Given the description of an element on the screen output the (x, y) to click on. 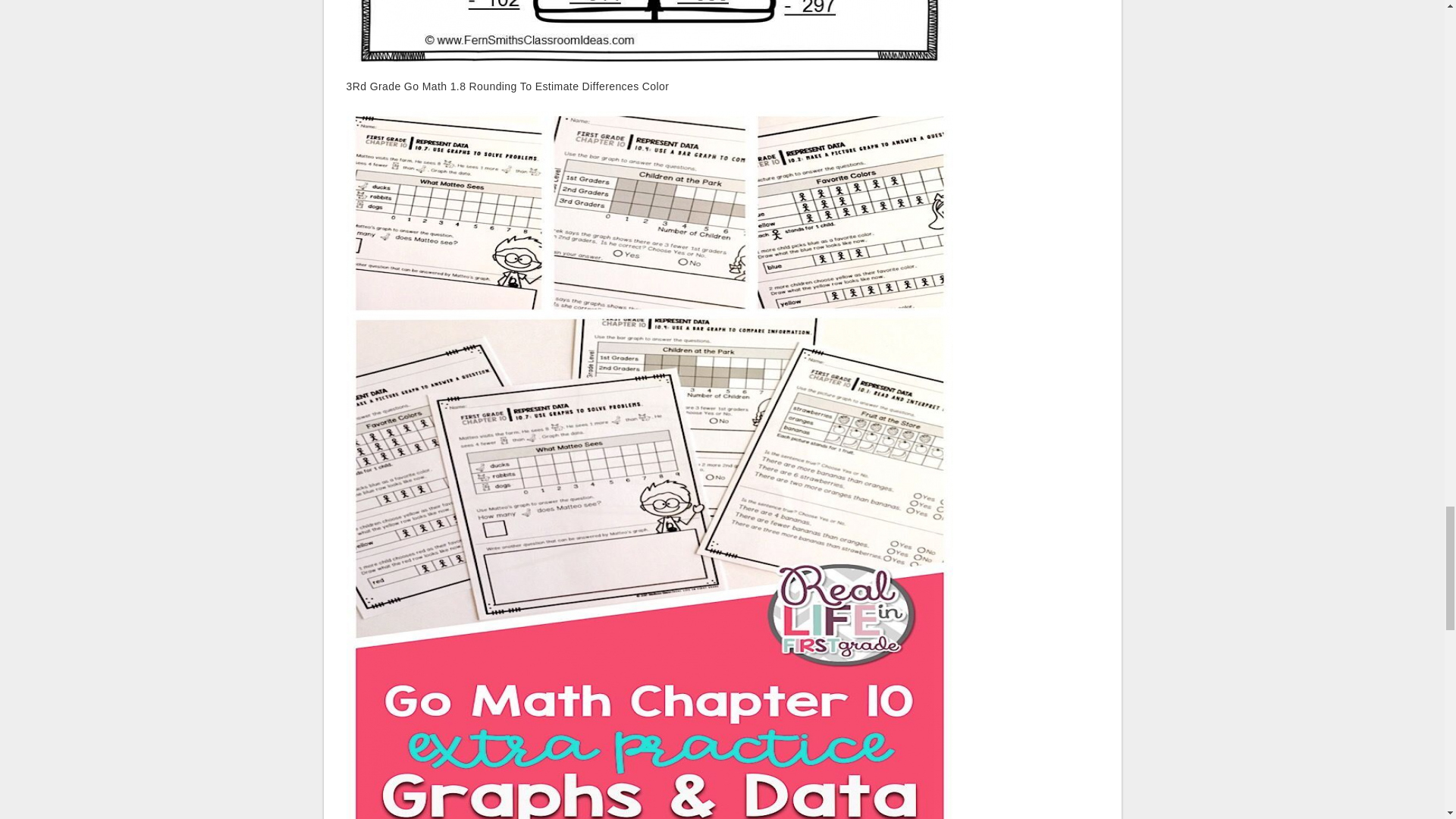
3rd grade go math 1 8 rounding to estimate differences color (649, 31)
